Given the description of an element on the screen output the (x, y) to click on. 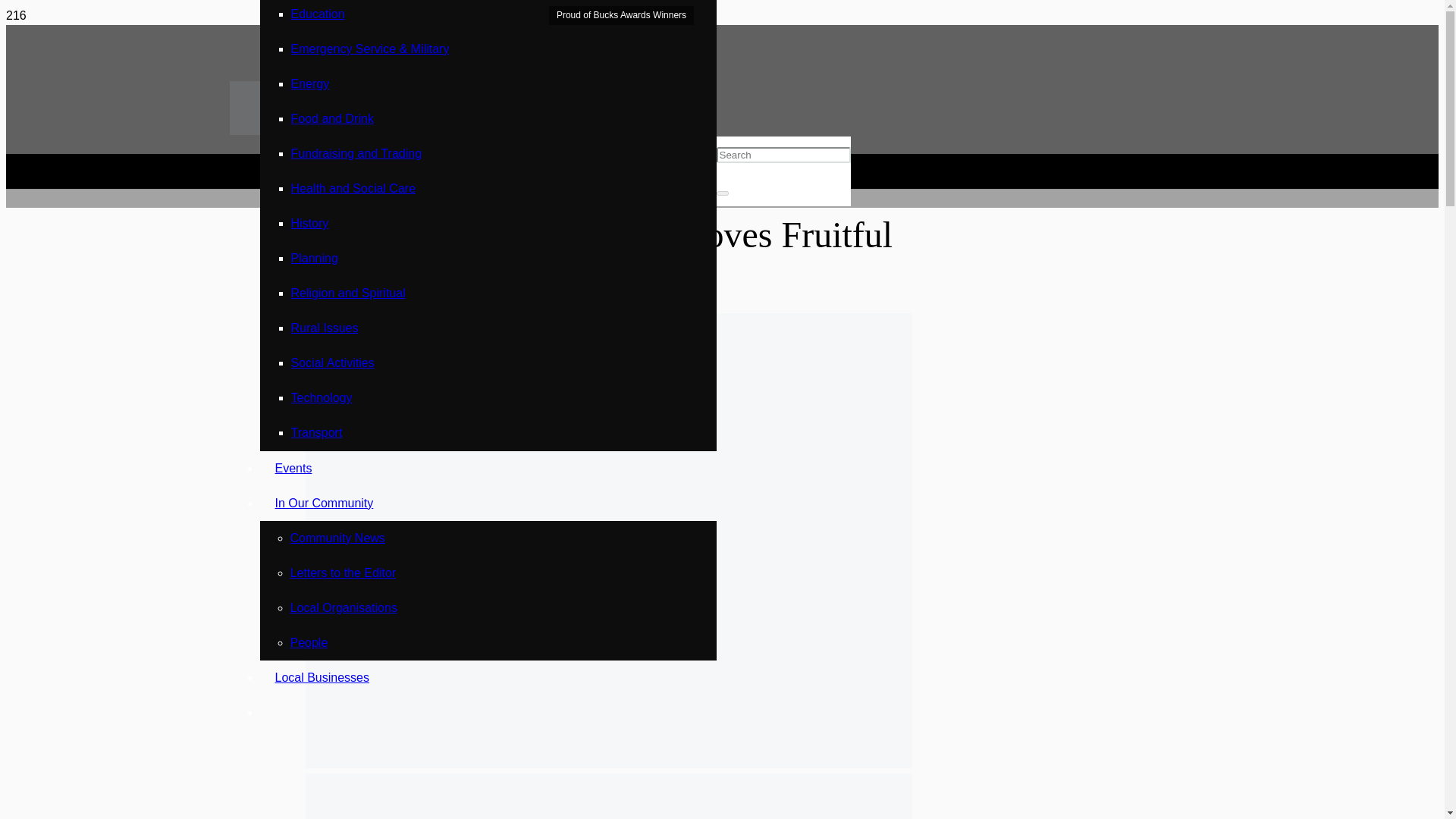
History (310, 223)
Clubs and Societies (358, 303)
Fundraising and Trading (356, 153)
In Our Community (323, 502)
Religion and Spiritual (348, 292)
People (308, 642)
Planning (314, 257)
Transport (316, 431)
Food and Drink (332, 118)
Education (318, 13)
Energy (310, 83)
Health and Social Care (645, 303)
Community News (336, 537)
Technology (321, 397)
Local Organisations (342, 607)
